Given the description of an element on the screen output the (x, y) to click on. 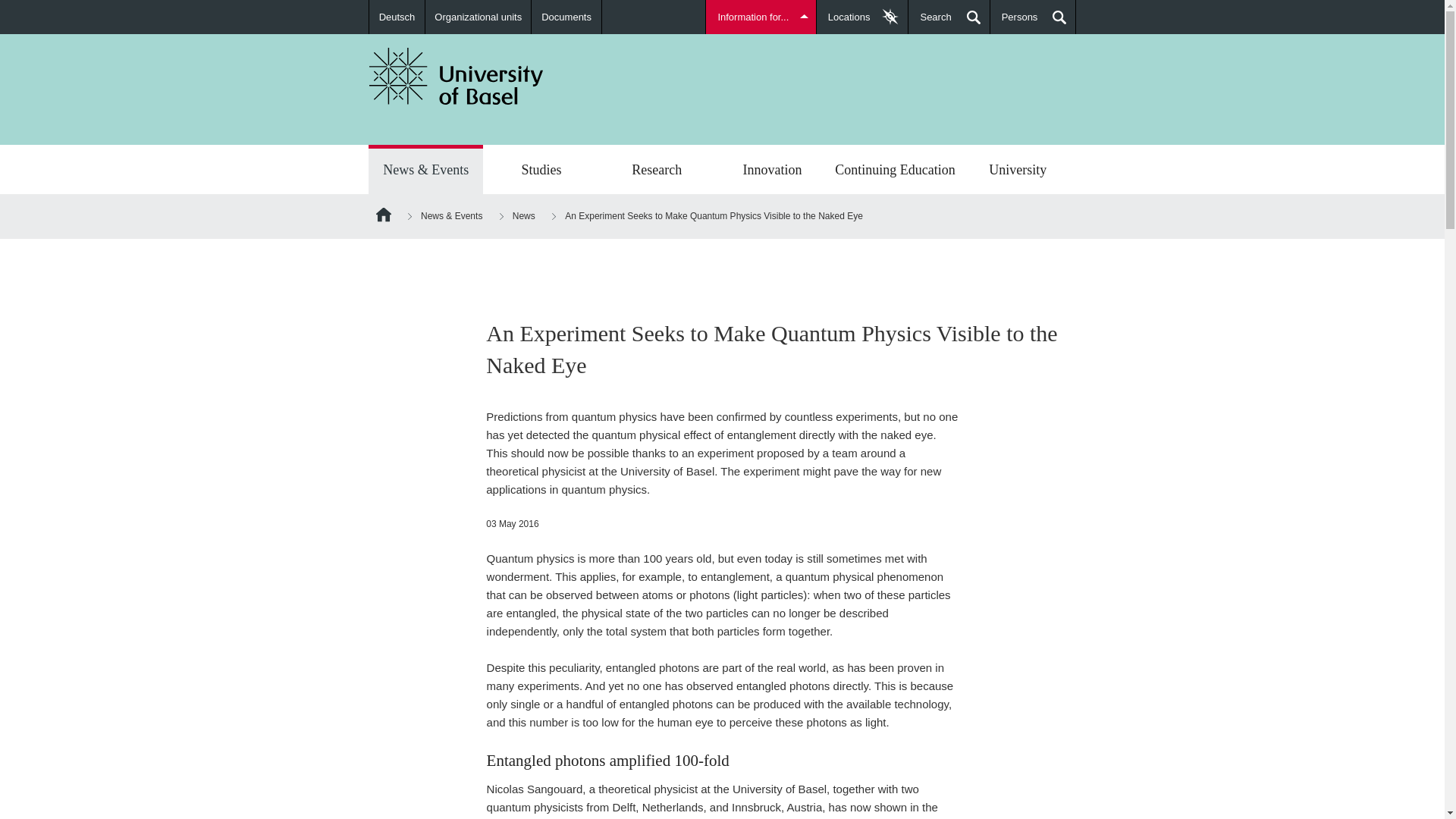
Persons (1032, 17)
Locations (862, 17)
Organizational units (478, 17)
Documents (566, 17)
Deutsch (397, 17)
Search (948, 17)
Studies (540, 171)
Information for... (760, 17)
